Given the description of an element on the screen output the (x, y) to click on. 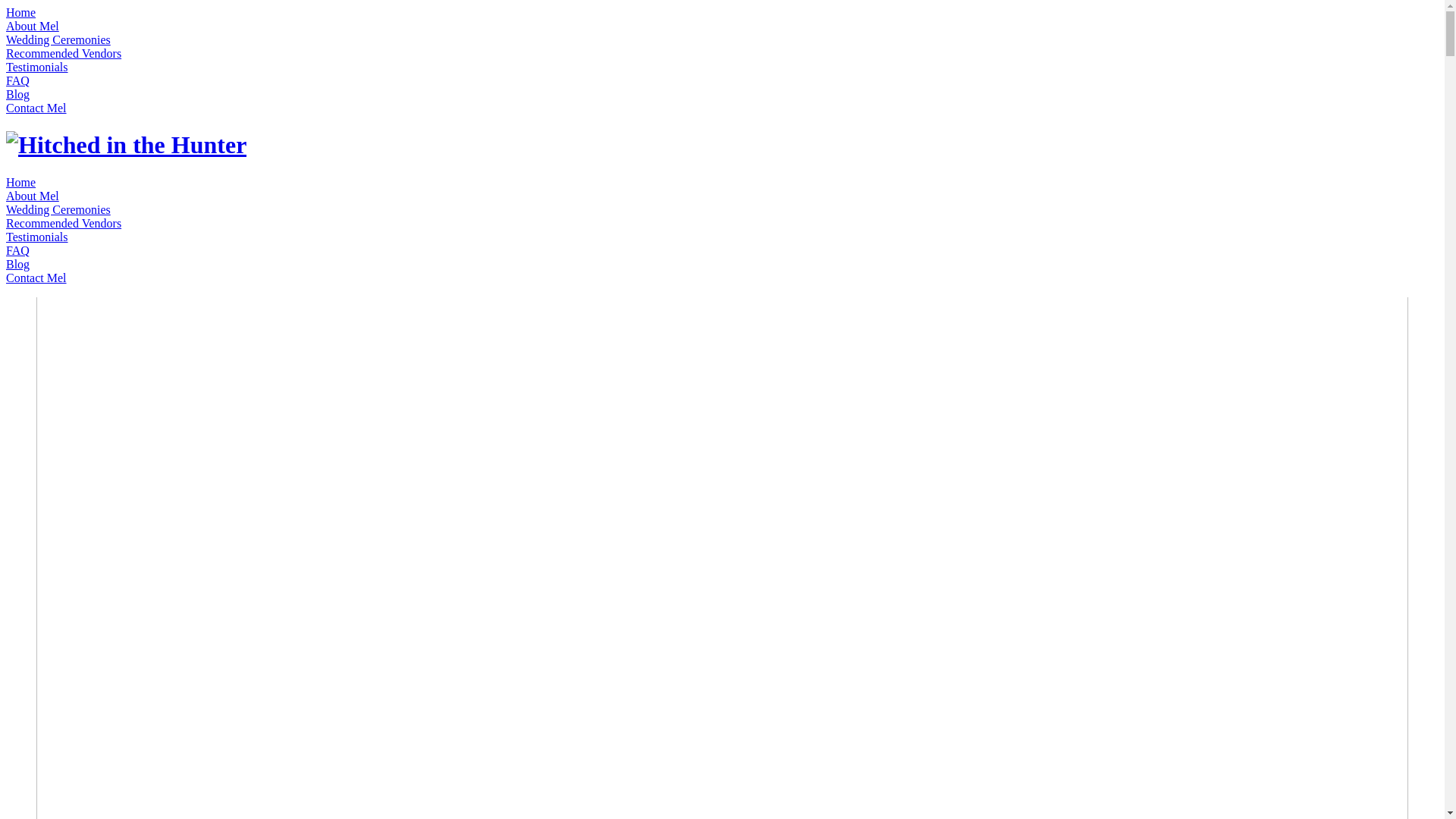
Home Element type: text (20, 181)
Contact Mel Element type: text (36, 107)
About Mel Element type: text (32, 195)
Testimonials Element type: text (37, 66)
Wedding Ceremonies Element type: text (58, 209)
Blog Element type: text (17, 263)
FAQ Element type: text (17, 80)
Home Element type: text (20, 12)
Contact Mel Element type: text (36, 277)
Testimonials Element type: text (37, 236)
Recommended Vendors Element type: text (63, 222)
FAQ Element type: text (17, 250)
Recommended Vendors Element type: text (63, 53)
Blog Element type: text (17, 93)
About Mel Element type: text (32, 25)
Wedding Ceremonies Element type: text (58, 39)
